Given the description of an element on the screen output the (x, y) to click on. 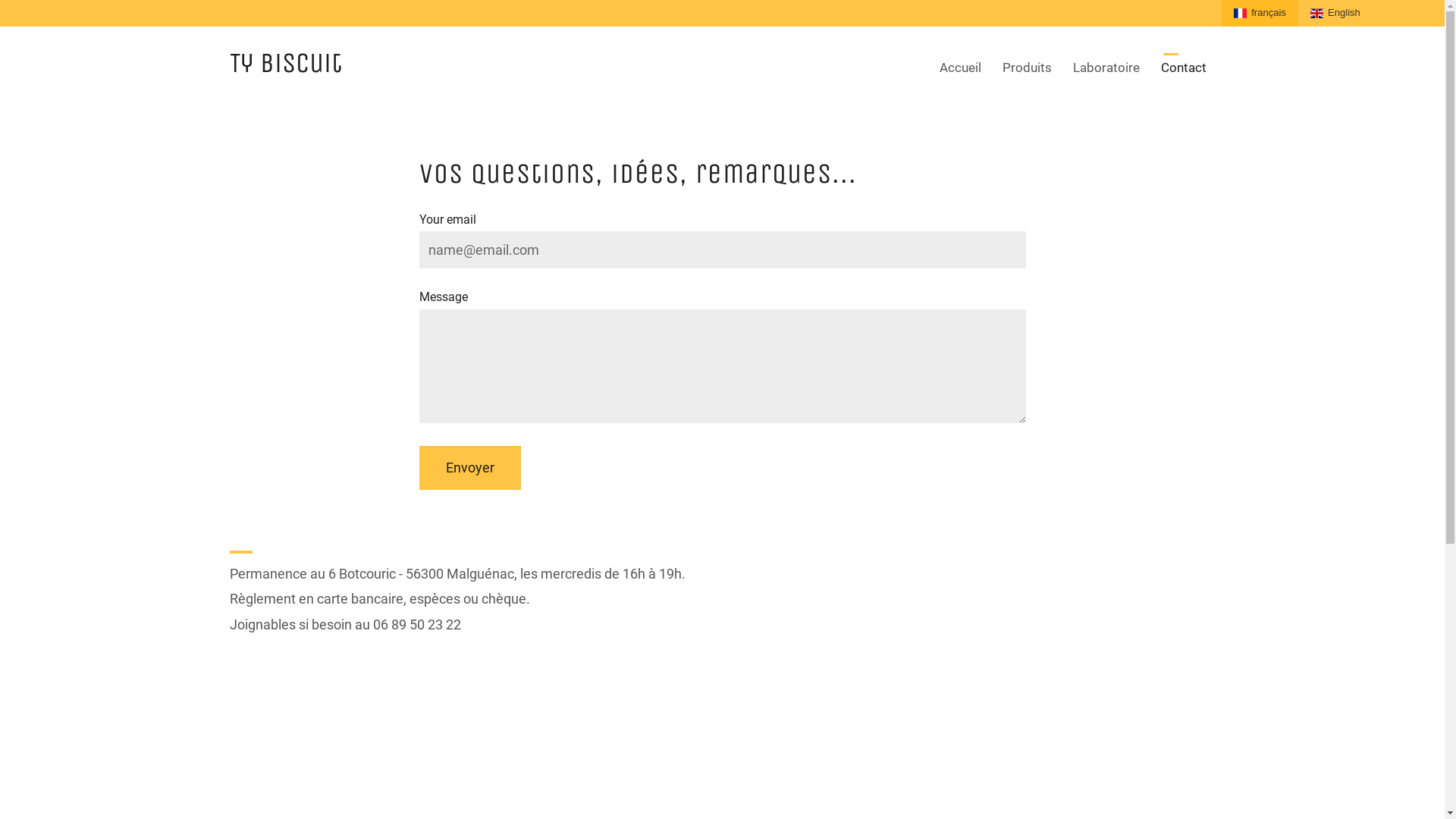
Accueil Element type: text (959, 67)
Laboratoire Element type: text (1105, 67)
Envoyer Element type: text (469, 467)
Ty Biscuit Element type: text (285, 62)
English Element type: text (1335, 13)
Contact Element type: text (1182, 67)
Produits Element type: text (1026, 67)
